Given the description of an element on the screen output the (x, y) to click on. 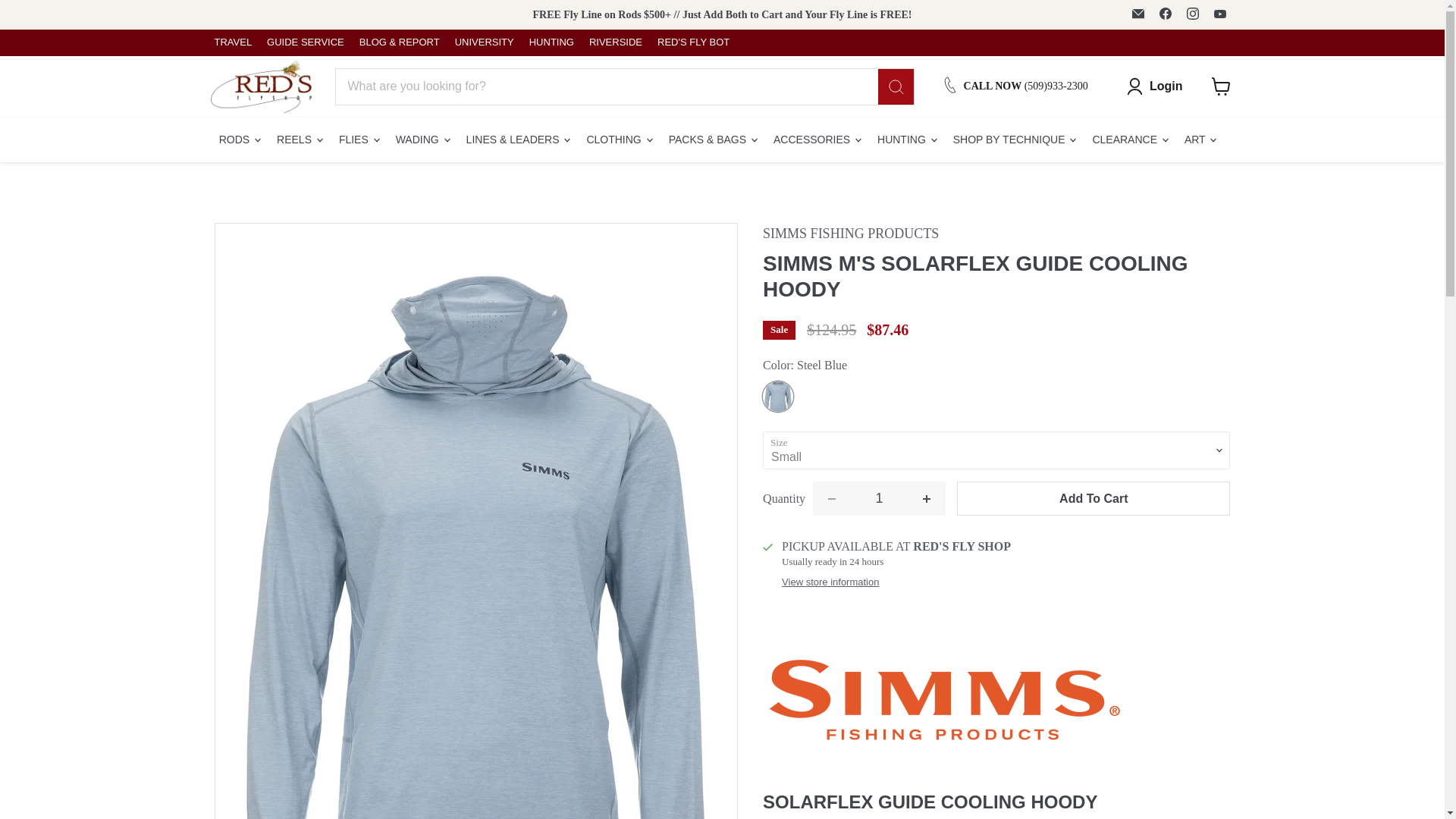
Email Red's Fly Shop (1137, 13)
View cart (1221, 89)
Simms Fishing Products (850, 233)
Find us on Facebook (1164, 13)
TRAVEL (232, 42)
1 (878, 498)
Find us on YouTube (1219, 13)
RIVERSIDE (615, 42)
Facebook (1164, 13)
UNIVERSITY (483, 42)
Email (1137, 13)
Instagram (1191, 13)
Login (1154, 85)
Find us on Instagram (1191, 13)
YouTube (1219, 13)
